Given the description of an element on the screen output the (x, y) to click on. 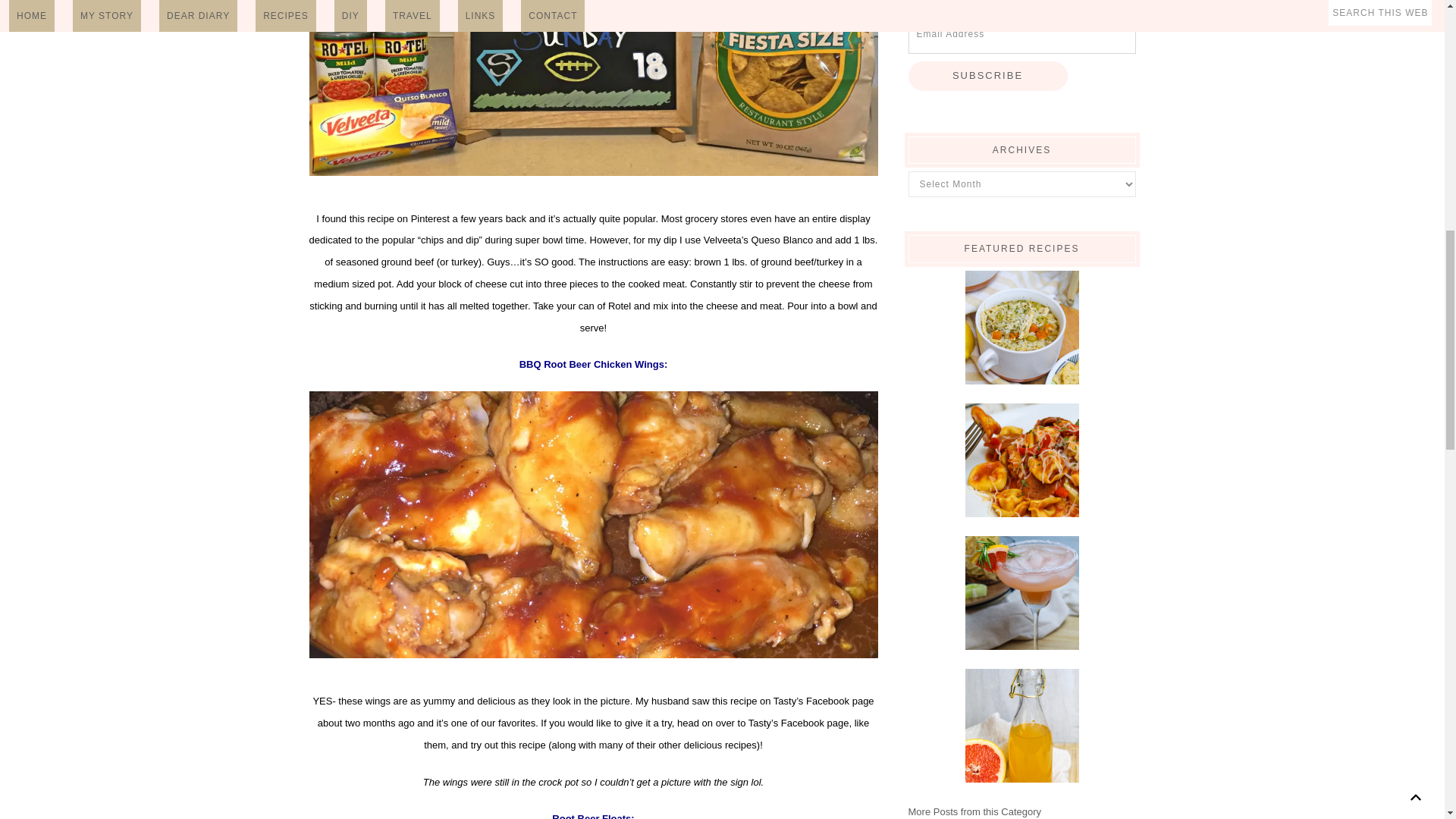
Recipes (975, 811)
